Given the description of an element on the screen output the (x, y) to click on. 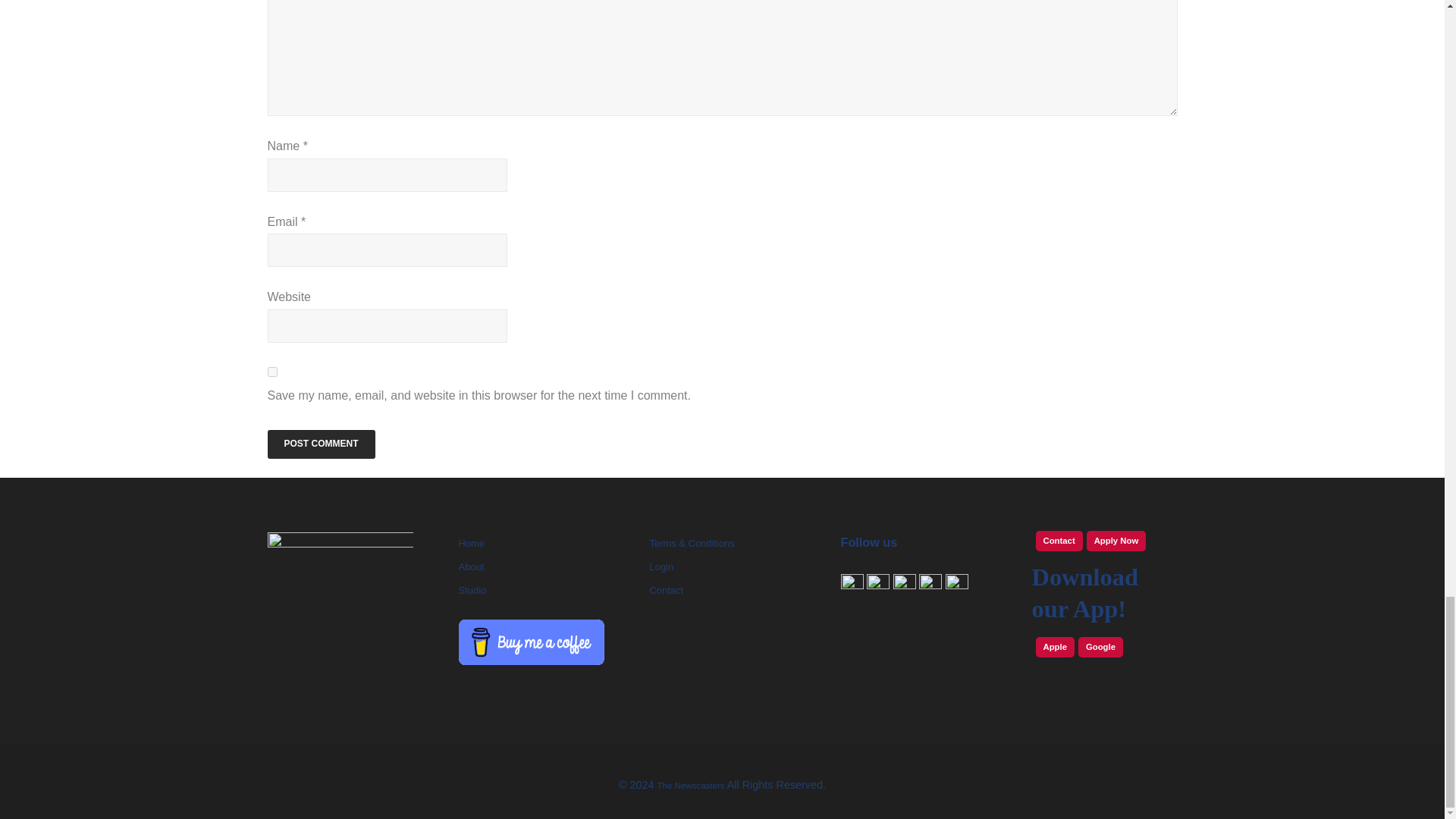
About (470, 566)
yes (271, 371)
Studio (472, 590)
Post Comment (320, 443)
Login (660, 566)
Post Comment (320, 443)
Home (471, 542)
